Given the description of an element on the screen output the (x, y) to click on. 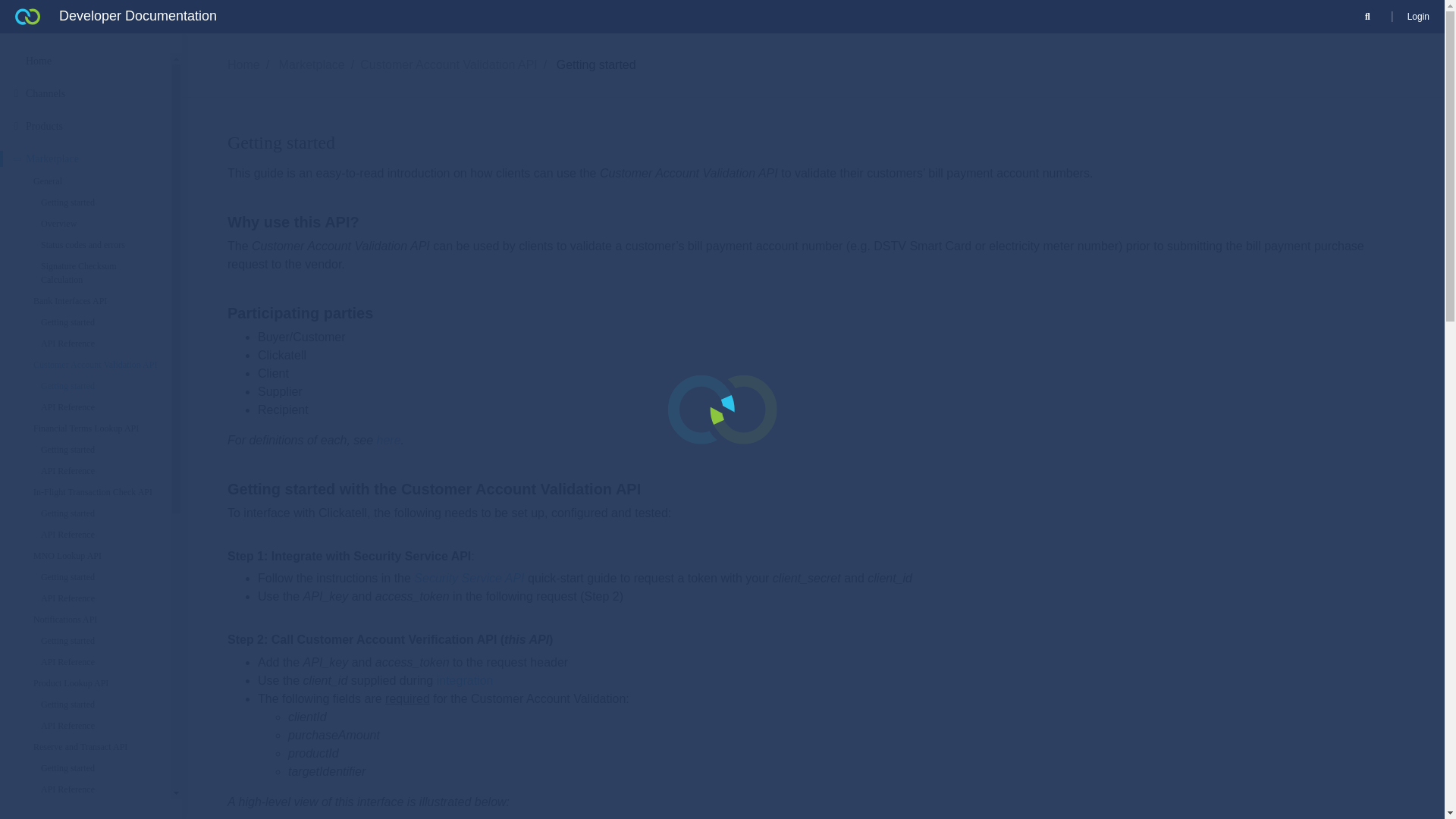
Getting started (98, 202)
Developer Documentation (115, 16)
Products (91, 125)
Status codes and errors (98, 244)
Getting started (98, 322)
General (94, 181)
Customer Account Validation API (94, 364)
API Reference (98, 343)
Bank Interfaces API (94, 300)
Home (91, 60)
Signature Checksum Calculation (98, 272)
Marketplace (91, 158)
Overview (98, 223)
Login (1418, 15)
Channels (91, 93)
